Given the description of an element on the screen output the (x, y) to click on. 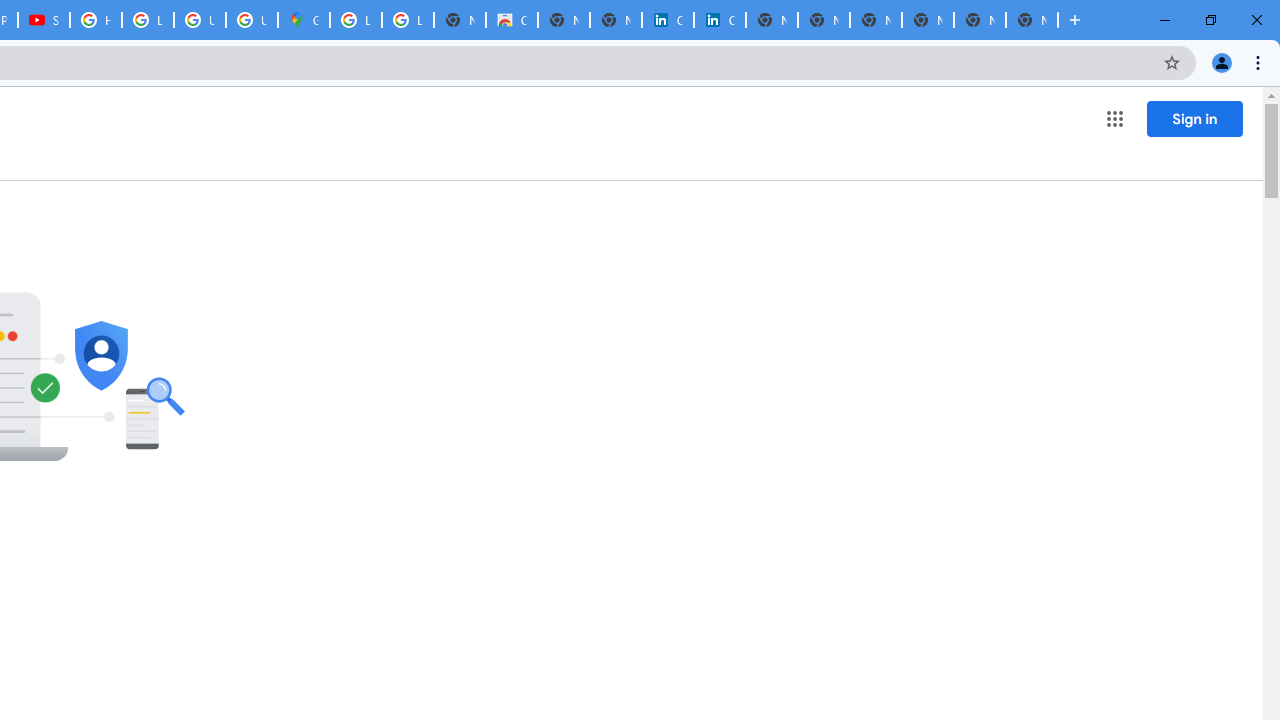
Subscriptions - YouTube (43, 20)
How Chrome protects your passwords - Google Chrome Help (95, 20)
Cookie Policy | LinkedIn (667, 20)
Google Maps (303, 20)
